Given the description of an element on the screen output the (x, y) to click on. 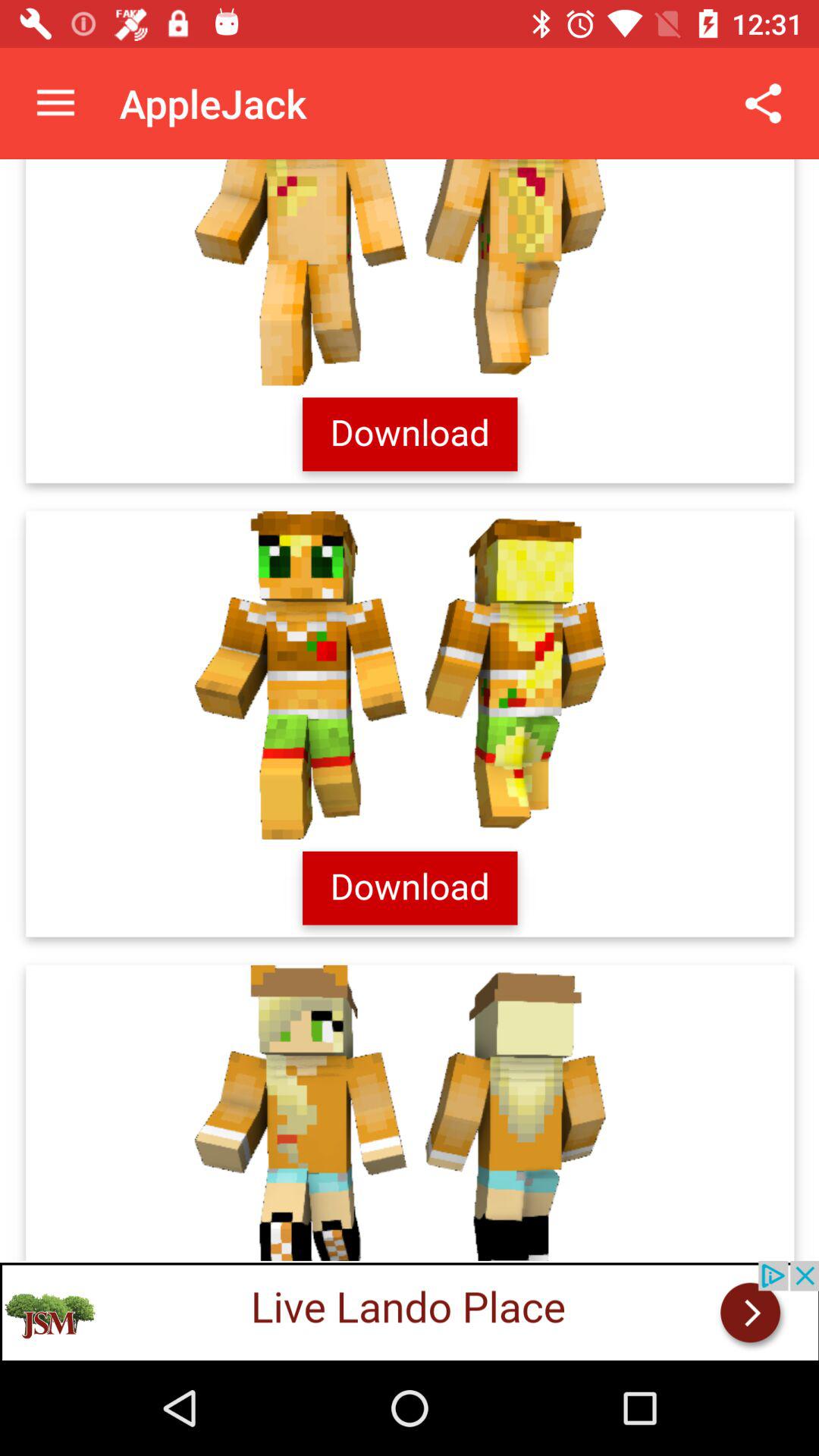
advertising bar (409, 1310)
